Given the description of an element on the screen output the (x, y) to click on. 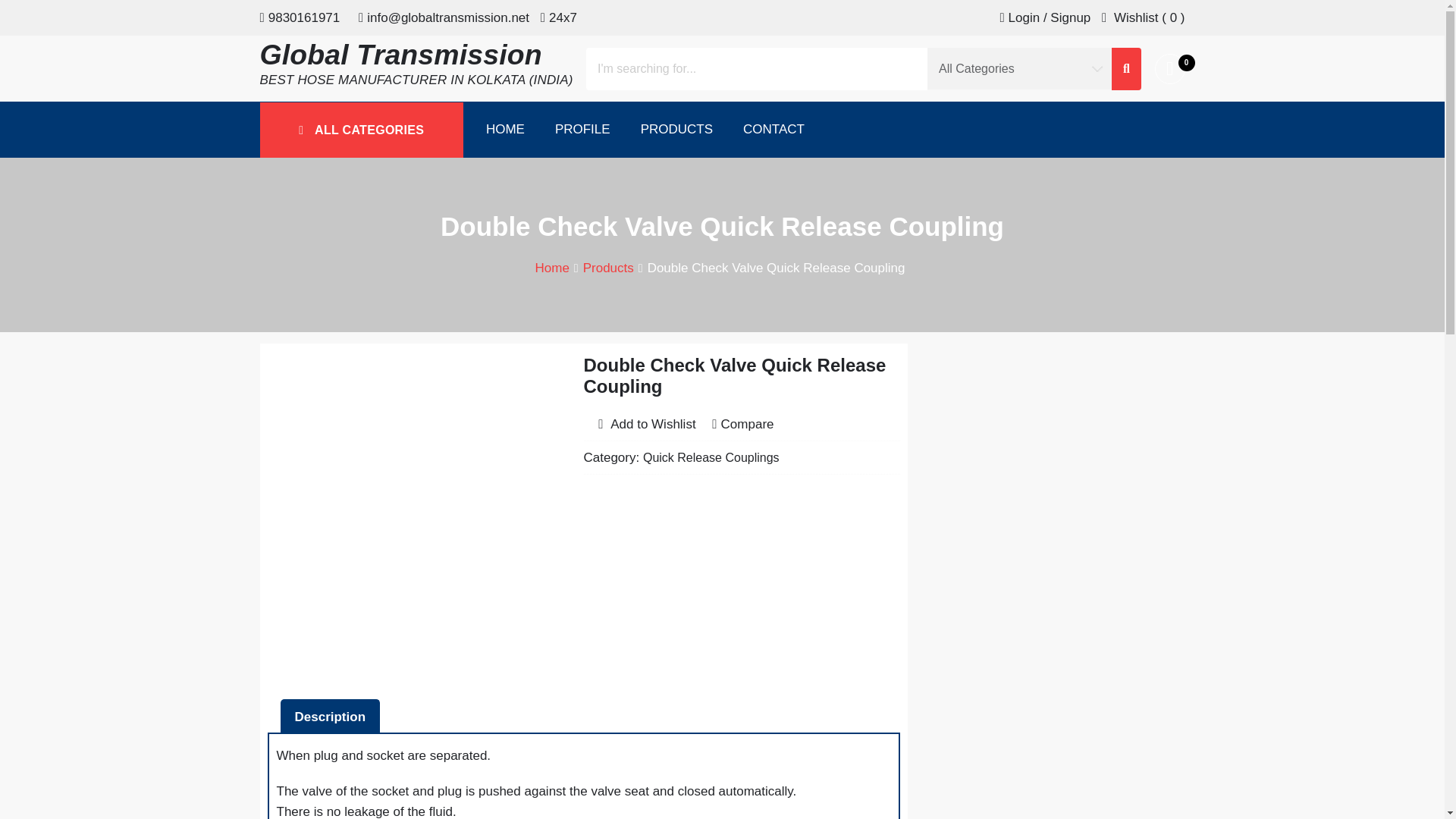
ALL CATEGORIES (361, 130)
Compare (742, 424)
HOME (505, 129)
View your shopping cart (1169, 69)
Quick Release Couplings (710, 457)
PRODUCTS (677, 129)
Description (329, 717)
Global Transmission (400, 54)
0 (1169, 69)
CONTACT (773, 129)
